Given the description of an element on the screen output the (x, y) to click on. 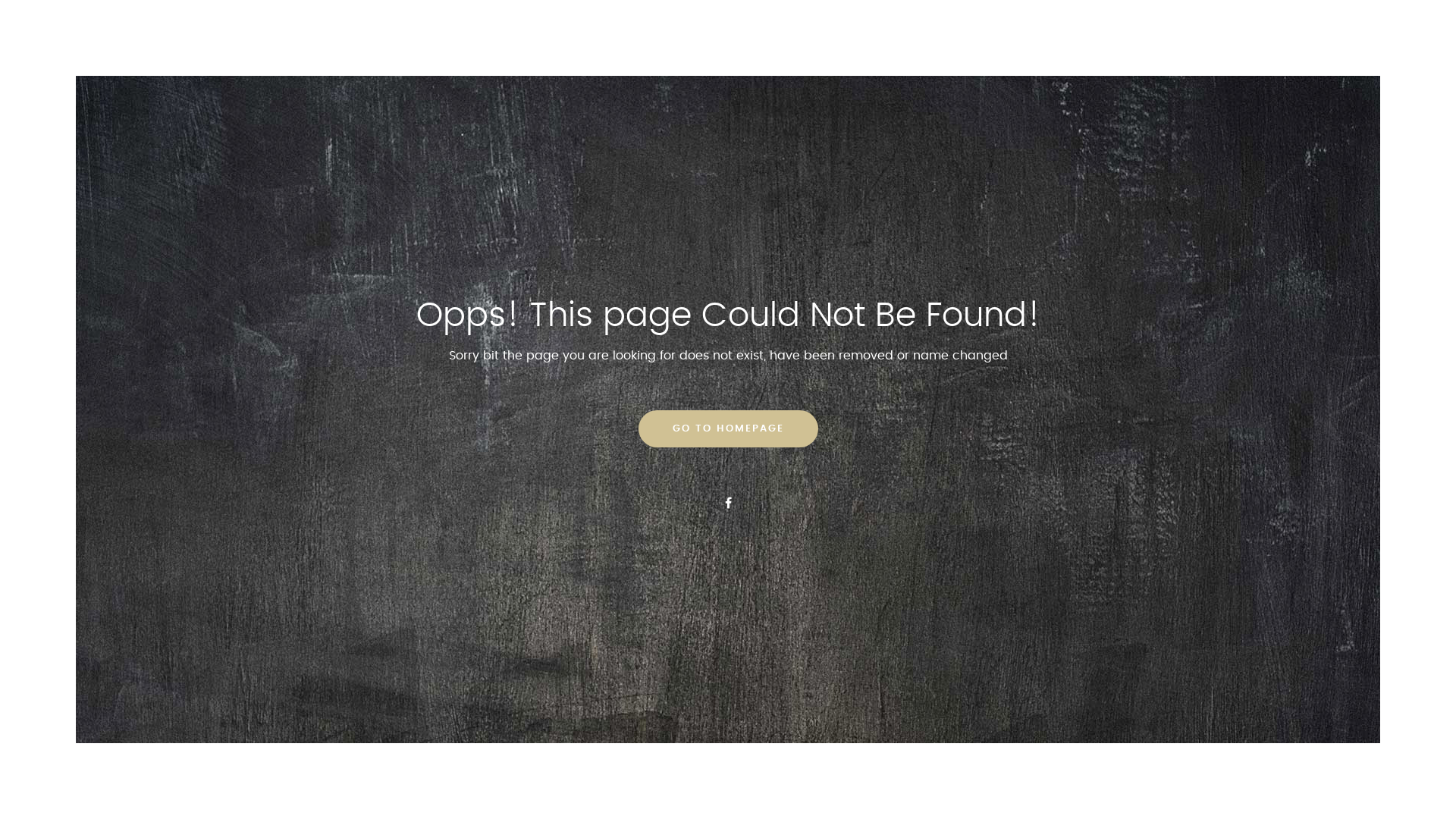
GO TO HOMEPAGE Element type: text (728, 428)
